Given the description of an element on the screen output the (x, y) to click on. 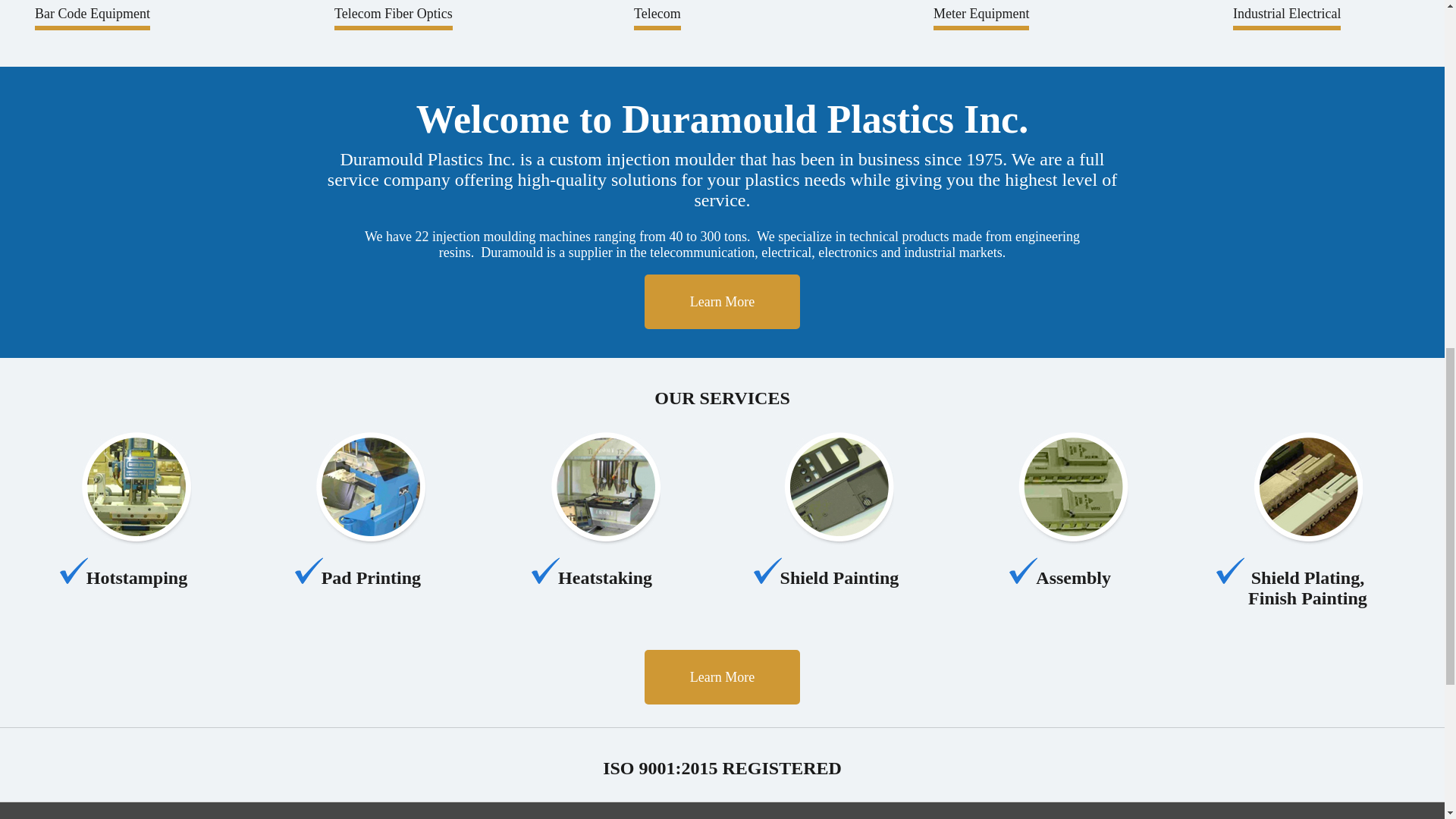
Meter Equipment (1079, 18)
Telecom (779, 18)
Bar Code Equipment (180, 18)
Telecom Fiber Optics (480, 18)
